Given the description of an element on the screen output the (x, y) to click on. 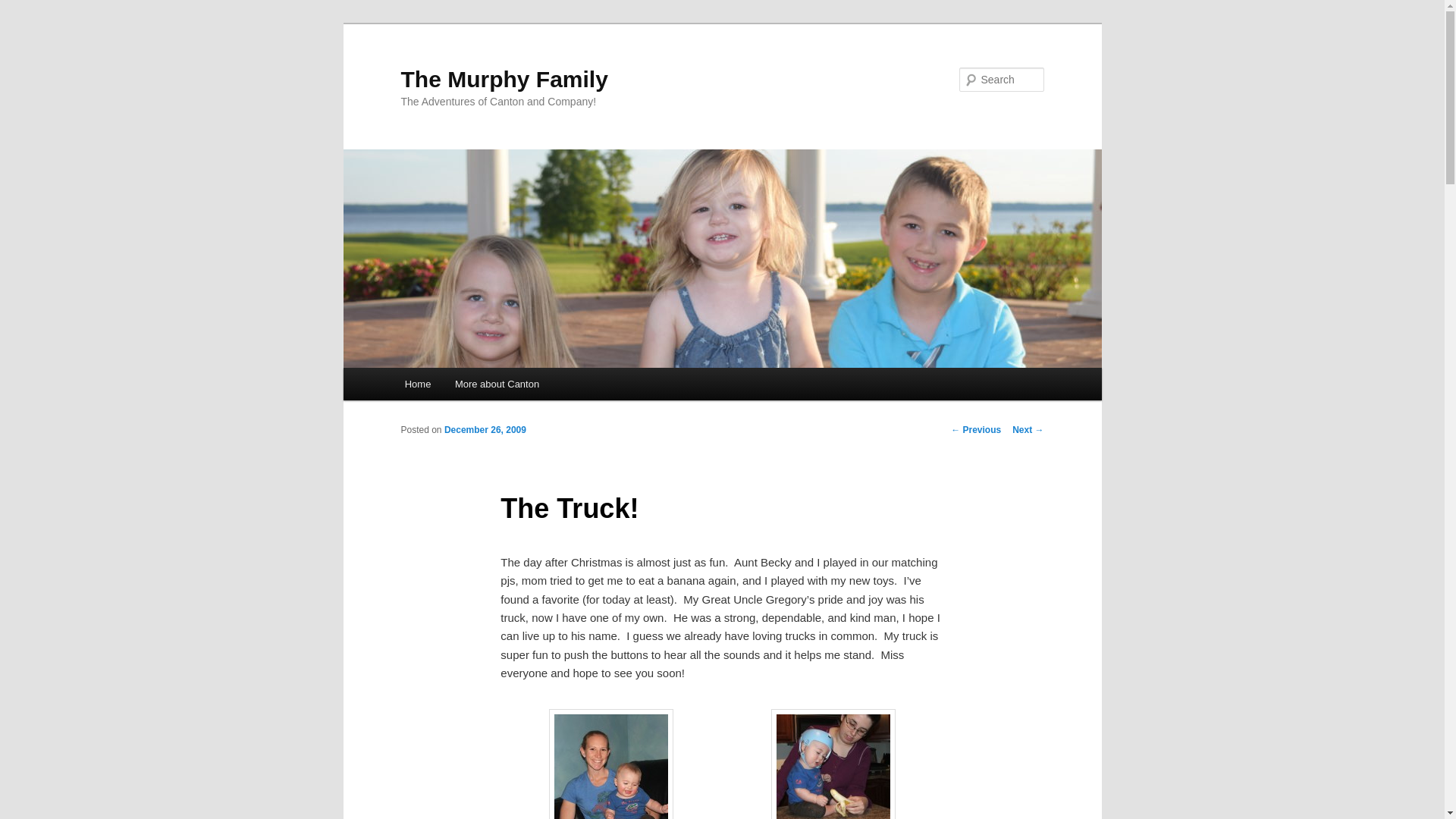
The Murphy Family (503, 78)
More about Canton (496, 383)
December 26, 2009 (484, 429)
2:11 pm (484, 429)
Search (24, 8)
Home (417, 383)
